Given the description of an element on the screen output the (x, y) to click on. 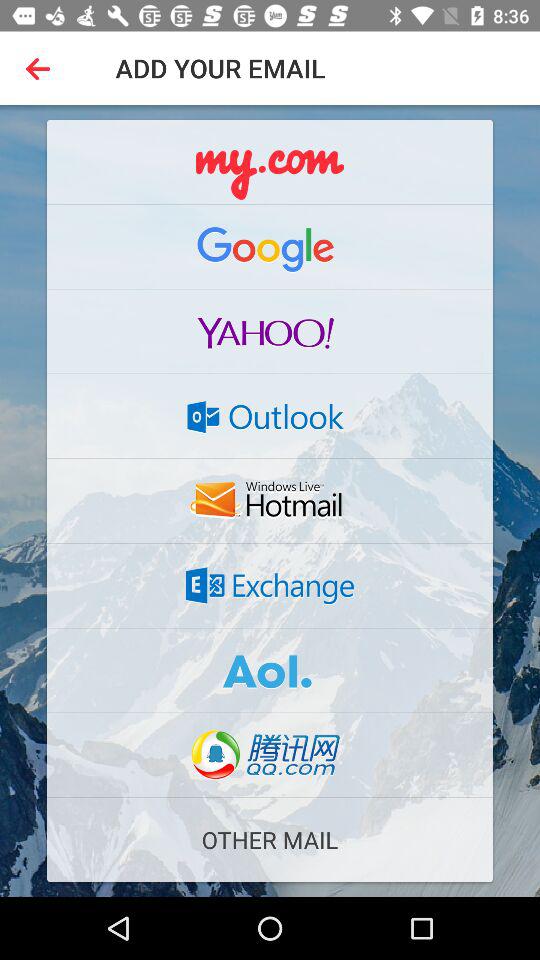
press icon next to the add your email item (41, 68)
